Given the description of an element on the screen output the (x, y) to click on. 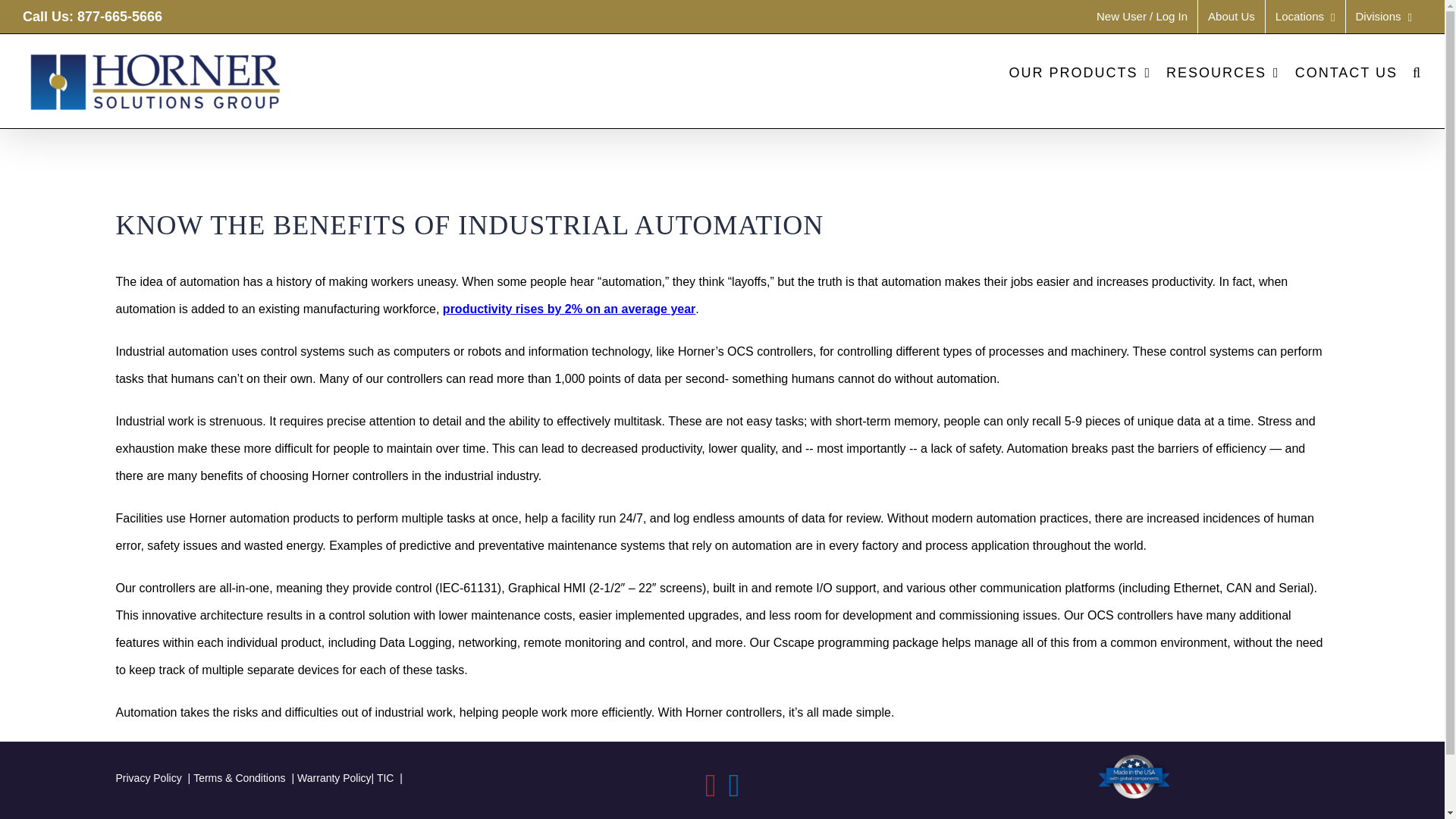
CONTACT US (1346, 72)
Privacy Policy (154, 777)
Locations (1305, 16)
Warranty Policy (334, 777)
RESOURCES (1222, 72)
About Us (1231, 16)
OUR PRODUCTS (1080, 72)
Divisions (1383, 16)
